Given the description of an element on the screen output the (x, y) to click on. 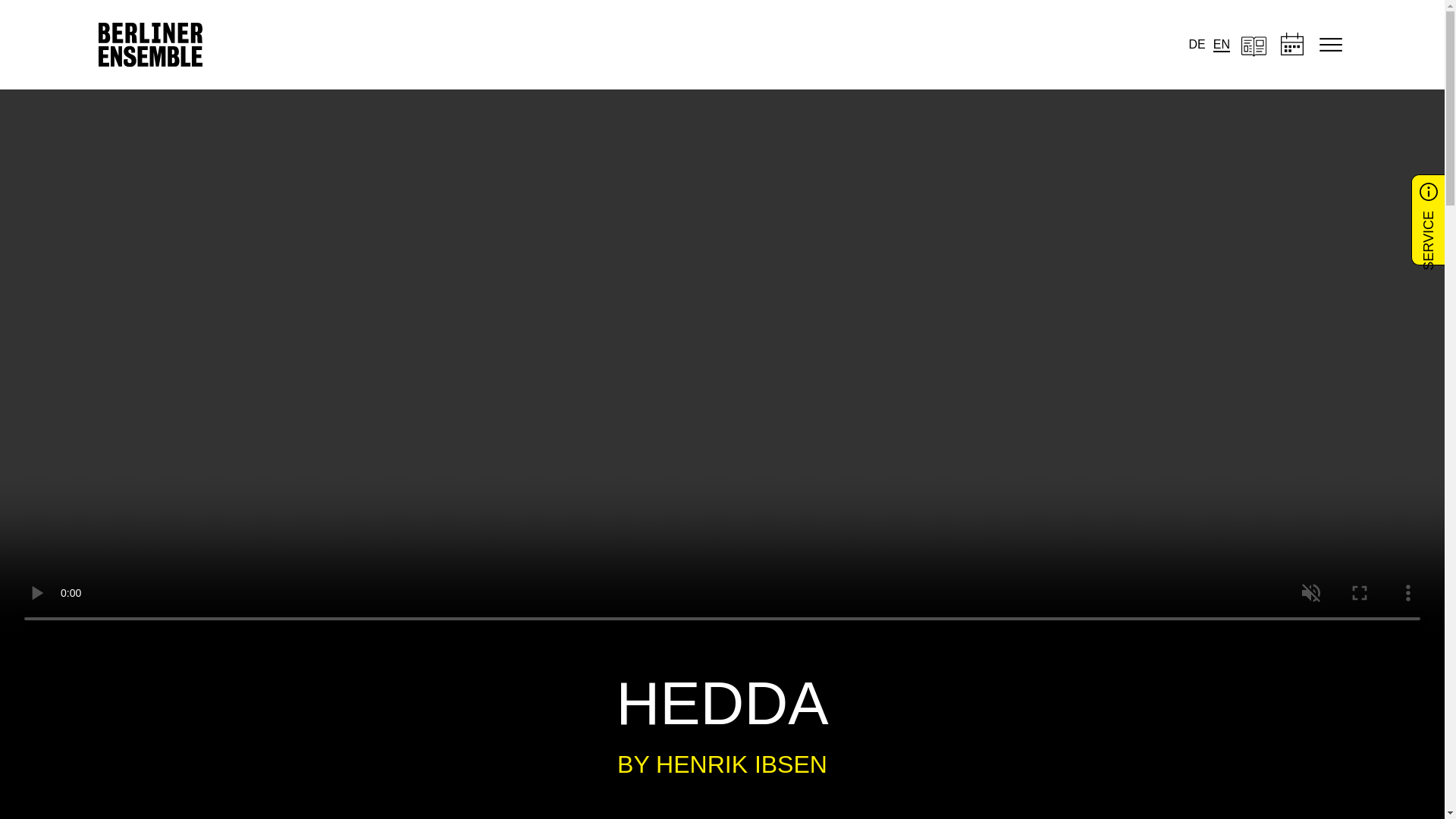
magazine (1253, 44)
DE (1197, 44)
Toggle primary navigation (1330, 44)
EN (1221, 44)
schedule (1292, 44)
Home (150, 44)
